Given the description of an element on the screen output the (x, y) to click on. 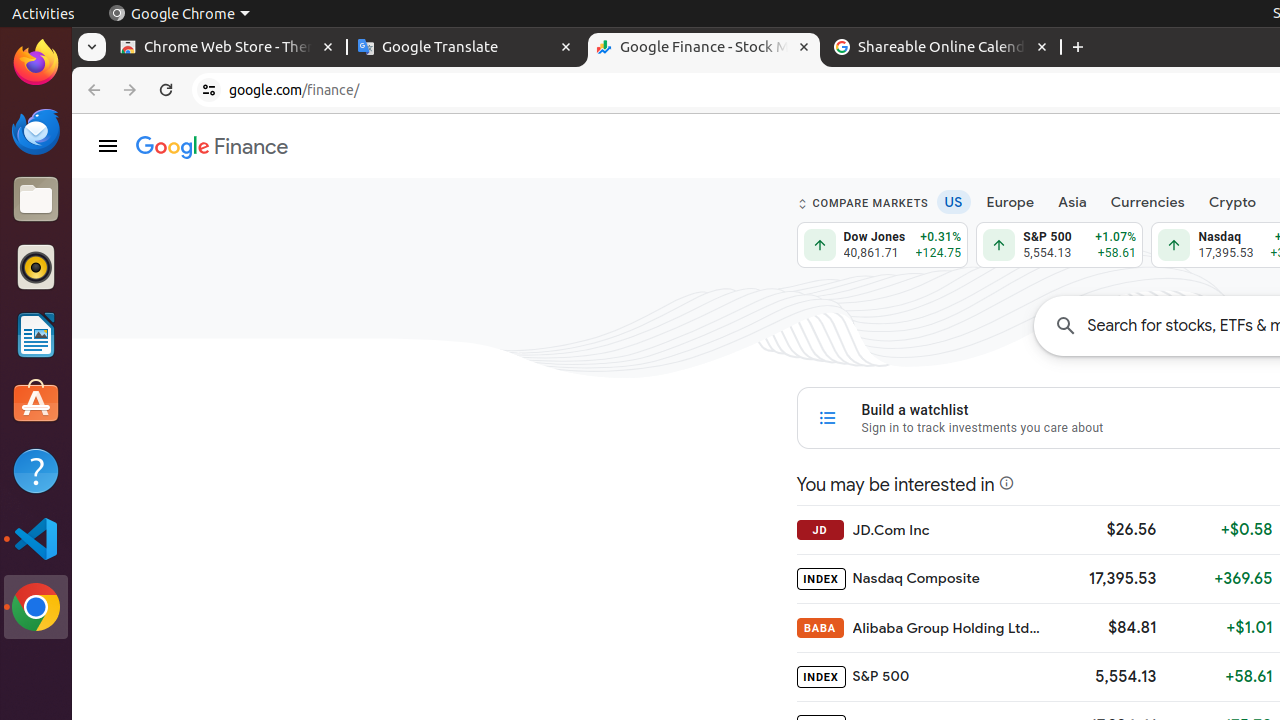
Europe Element type: page-tab (1010, 202)
Google Translate - Memory usage - 75.4 MB Element type: page-tab (466, 47)
Back Element type: push-button (91, 90)
Firefox Web Browser Element type: push-button (36, 63)
New Tab Element type: push-button (1078, 47)
